Given the description of an element on the screen output the (x, y) to click on. 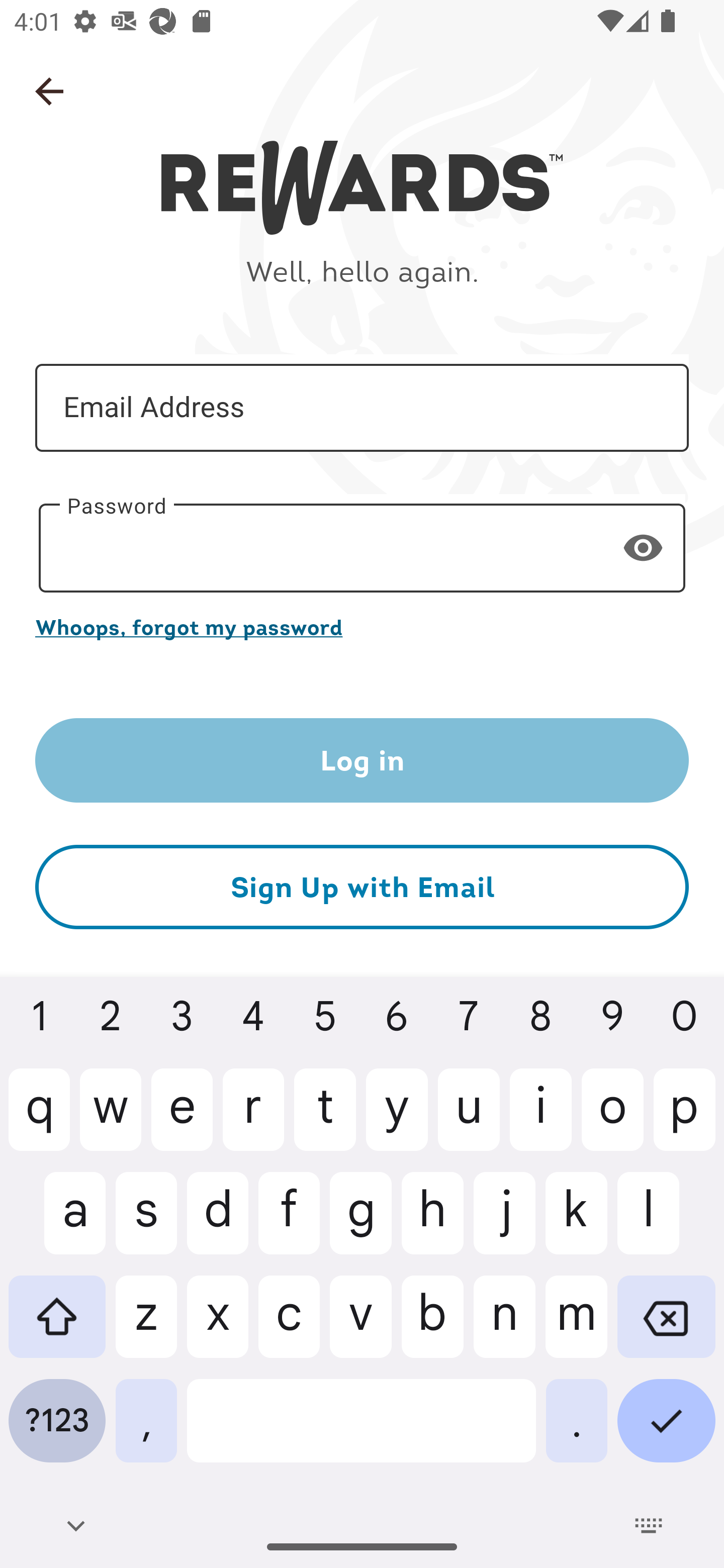
Navigate up (49, 91)
Email Address (361, 407)
Password (361, 547)
Show password (642, 546)
Whoops, forgot my password (361, 627)
Log in (361, 760)
Sign Up with Email (361, 887)
